Given the description of an element on the screen output the (x, y) to click on. 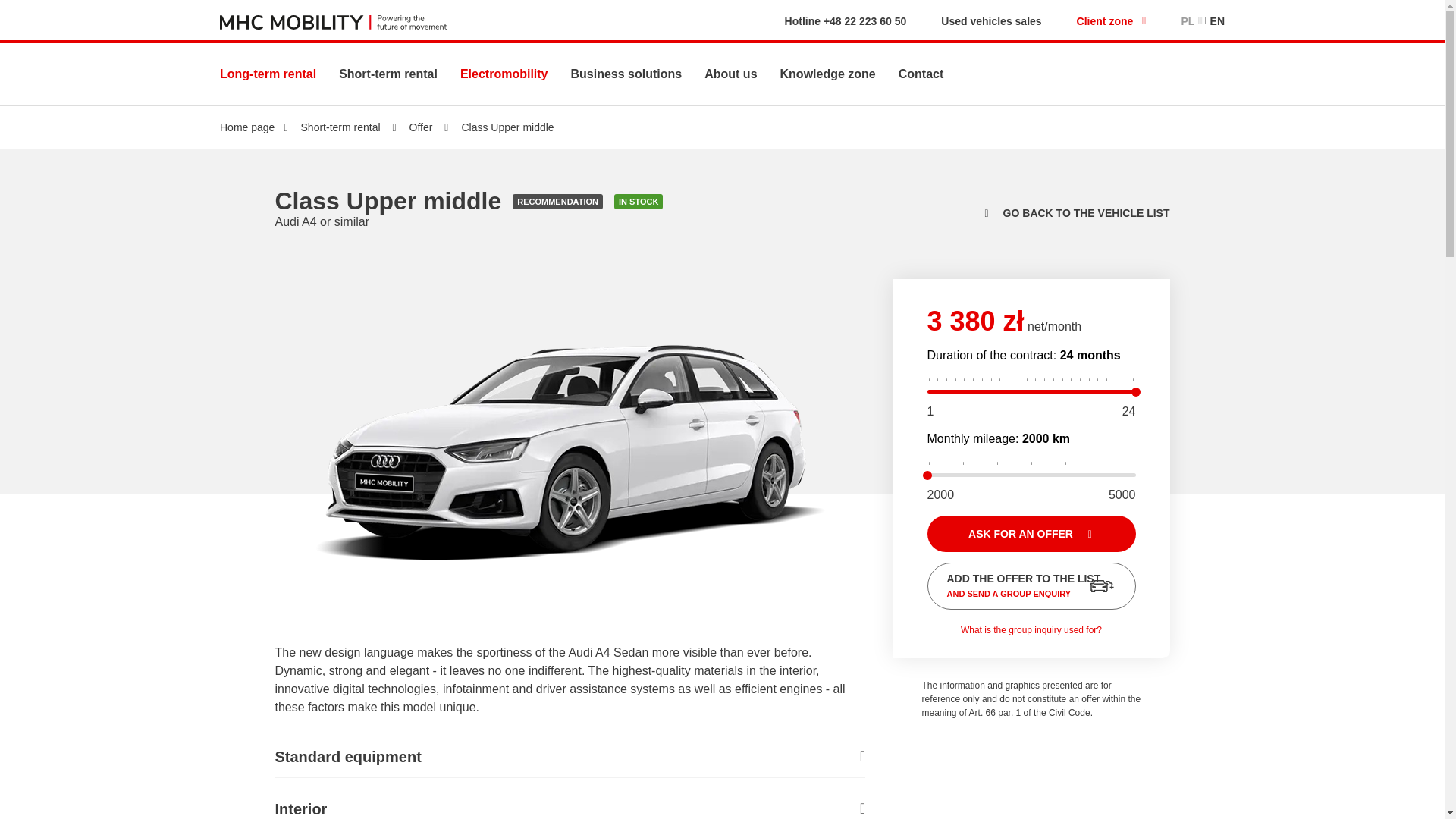
Electromobility (504, 73)
PL (1191, 21)
Business solutions (625, 73)
Knowledge zone (828, 73)
About us (730, 73)
EN (1213, 21)
Client zone (1112, 21)
Used vehicles sales (990, 21)
Short-term rental (388, 73)
Contact (920, 73)
Long-term rental (267, 73)
